Given the description of an element on the screen output the (x, y) to click on. 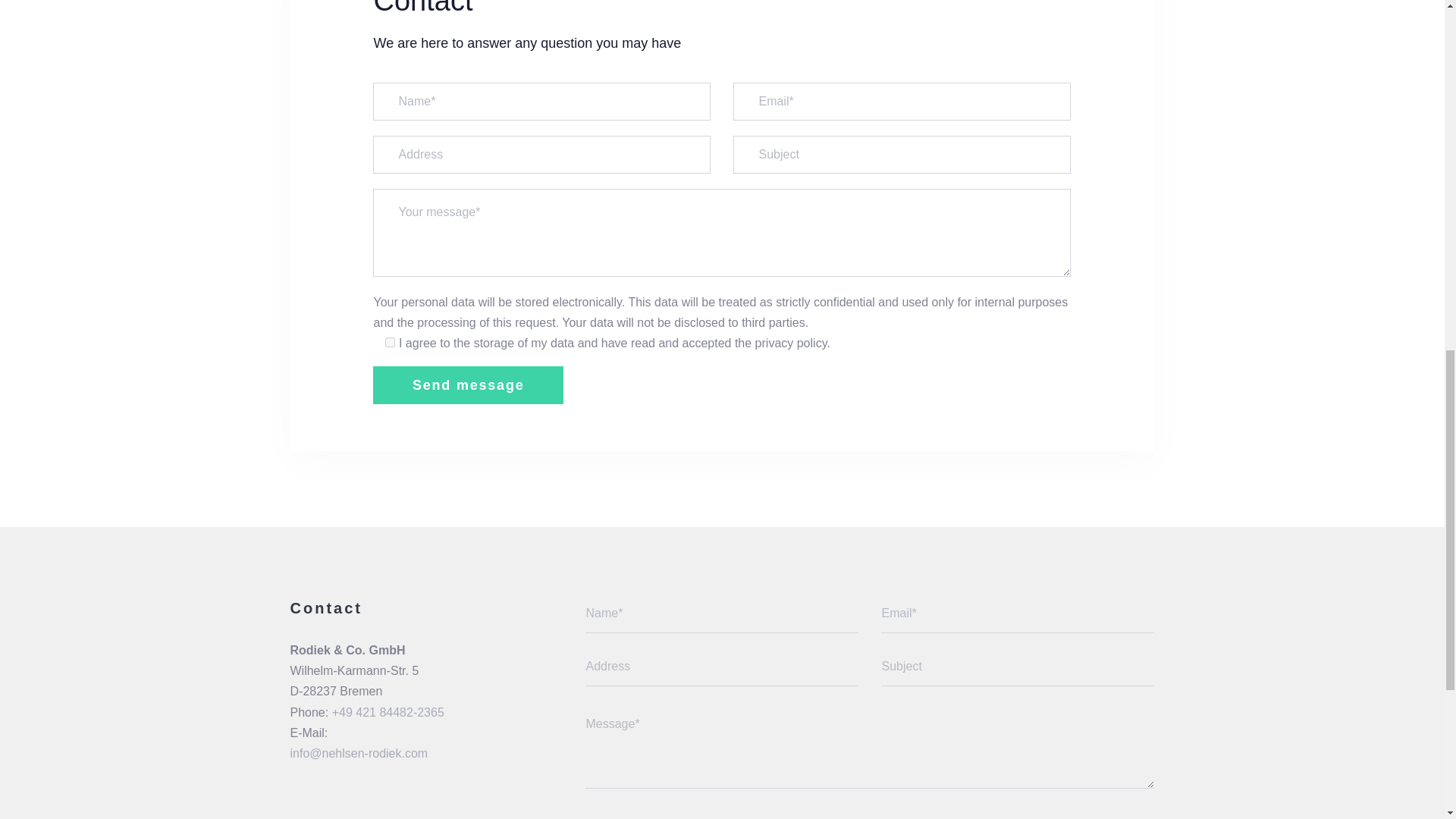
Send message (467, 385)
1 (389, 342)
Send message (467, 385)
